Given the description of an element on the screen output the (x, y) to click on. 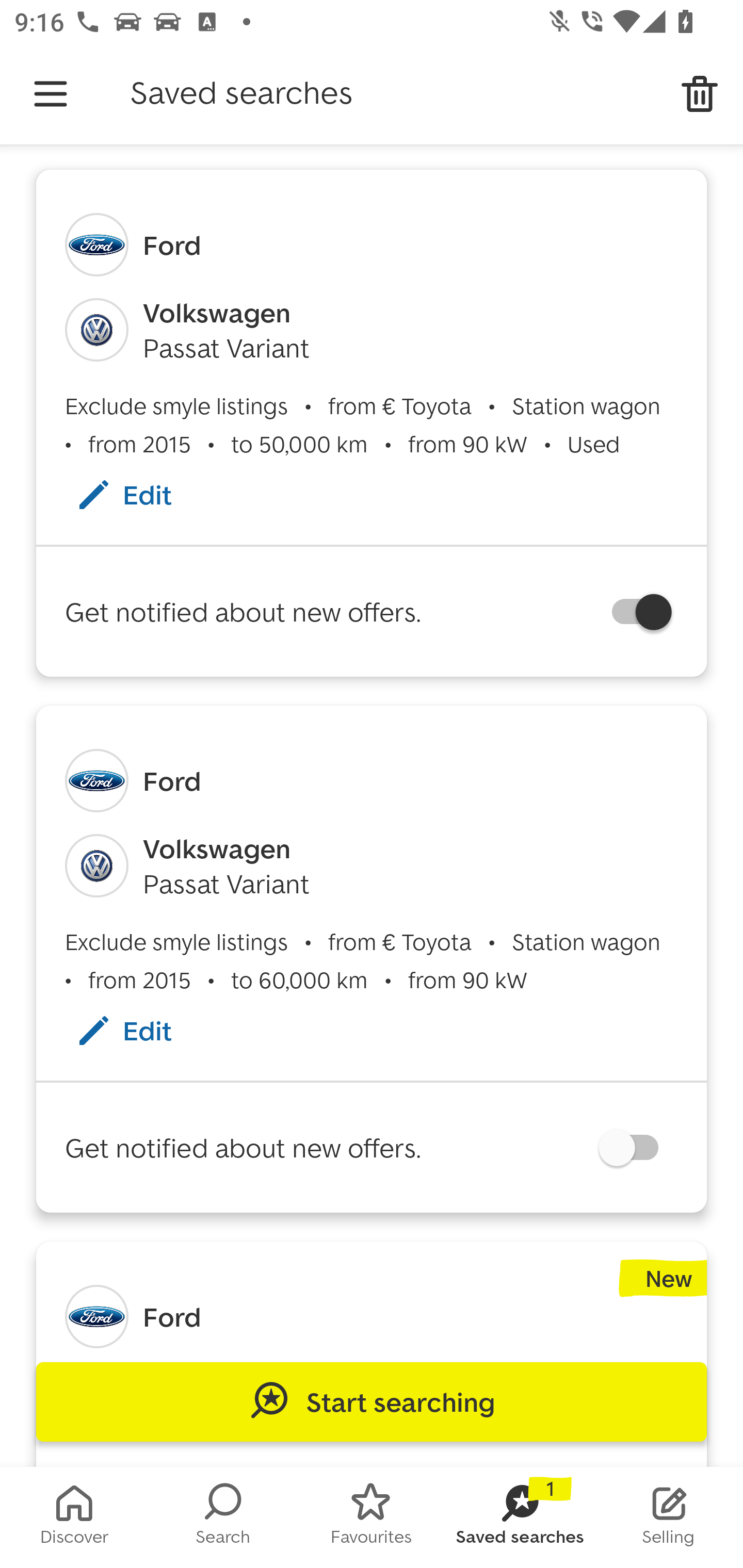
Navigate up (50, 93)
Delete vehicles (699, 93)
Edit (144, 494)
Edit (144, 1030)
Start searching (371, 1401)
HOMESCREEN Discover (74, 1517)
SEARCH Search (222, 1517)
FAVORITES Favourites (371, 1517)
SAVED_SEARCHES Saved searches 1 (519, 1517)
STOCK_LIST Selling (668, 1517)
